Given the description of an element on the screen output the (x, y) to click on. 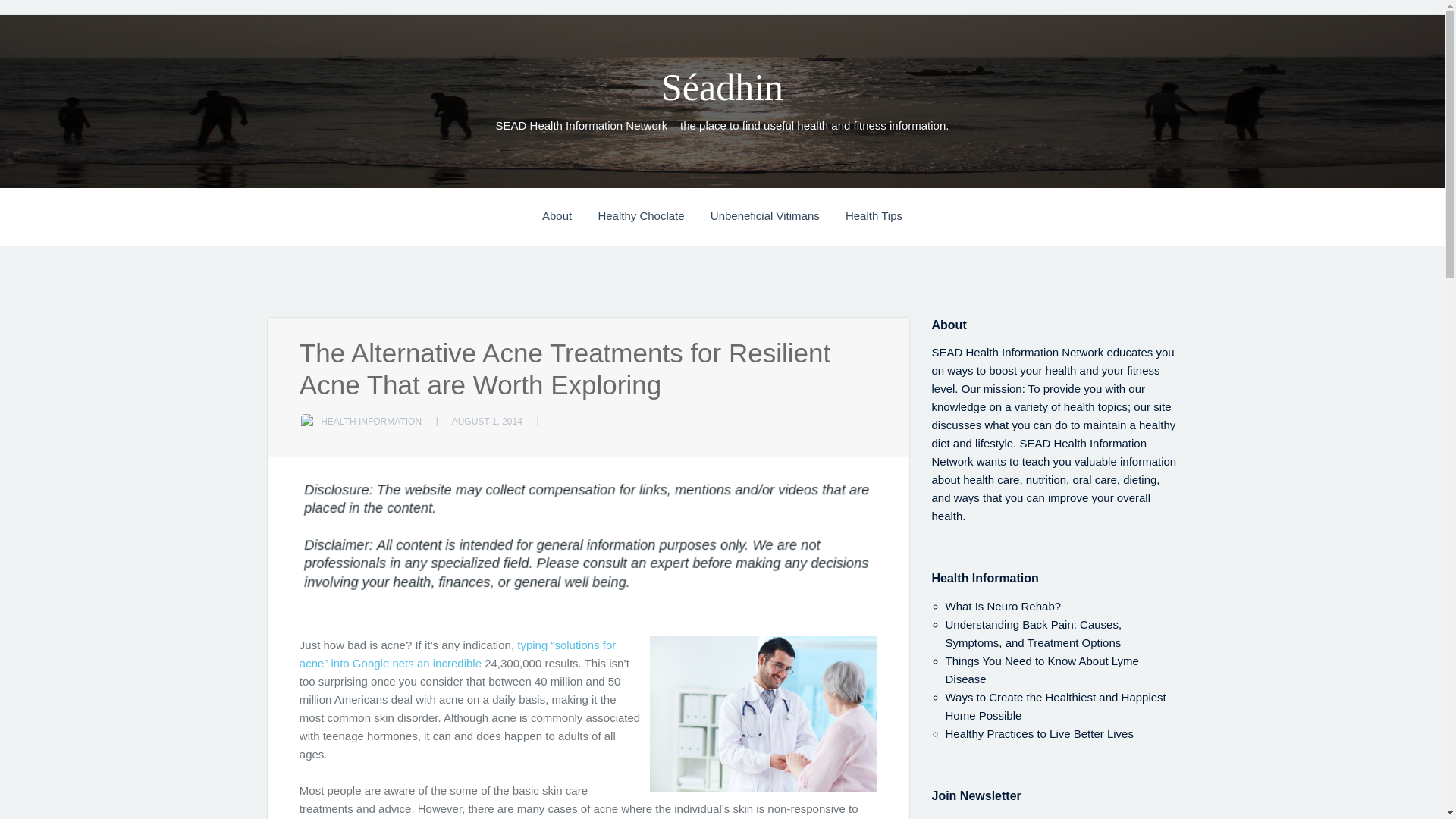
AUGUST 1, 2014 (486, 420)
What Is Neuro Rehab? (1002, 605)
HEALTH INFORMATION (371, 420)
Things You Need to Know About Lyme Disease (1041, 669)
Posts by Health Information (371, 420)
Health Tips (873, 214)
Ways to Create the Healthiest and Happiest Home Possible (1055, 706)
Healthy Choclate (651, 214)
Healthy Practices to Live Better Lives (1038, 733)
About (567, 214)
Unbeneficial Vitimans (776, 214)
High frequency skin care machine (457, 653)
